Given the description of an element on the screen output the (x, y) to click on. 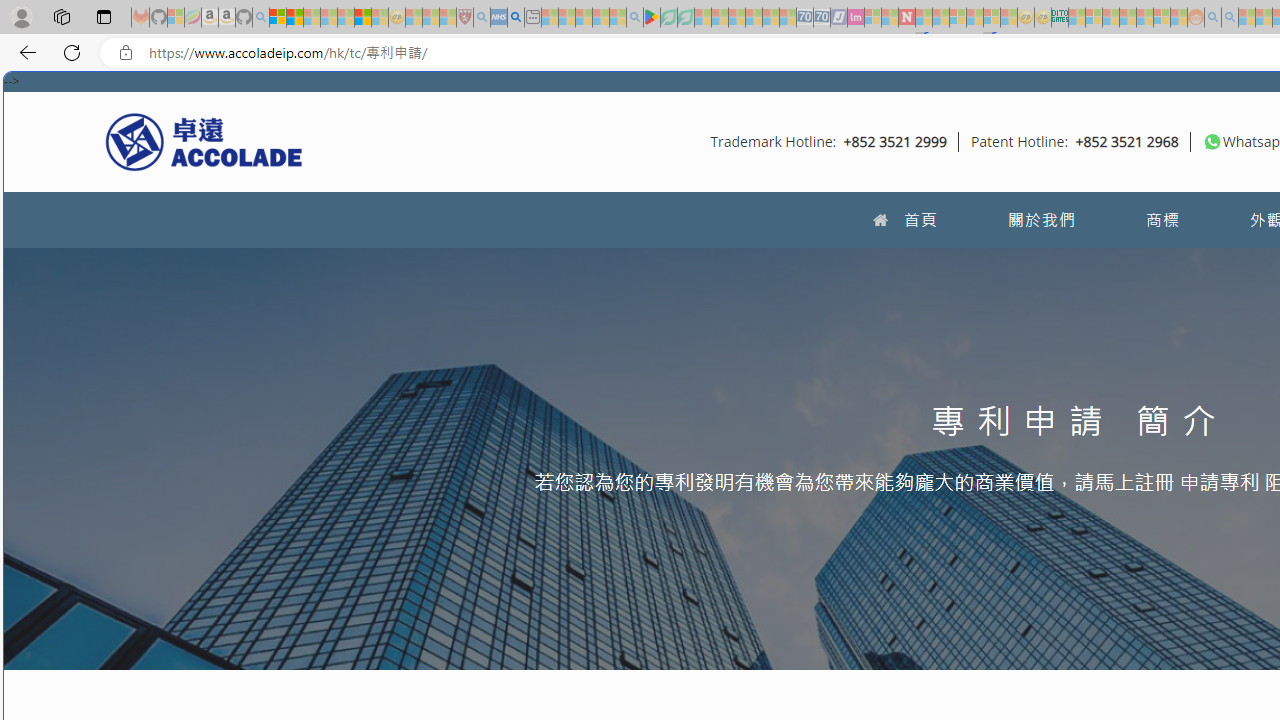
The Weather Channel - MSN - Sleeping (311, 17)
Jobs - lastminute.com Investor Portal - Sleeping (855, 17)
14 Common Myths Debunked By Scientific Facts - Sleeping (940, 17)
New Report Confirms 2023 Was Record Hot | Watch - Sleeping (345, 17)
